Given the description of an element on the screen output the (x, y) to click on. 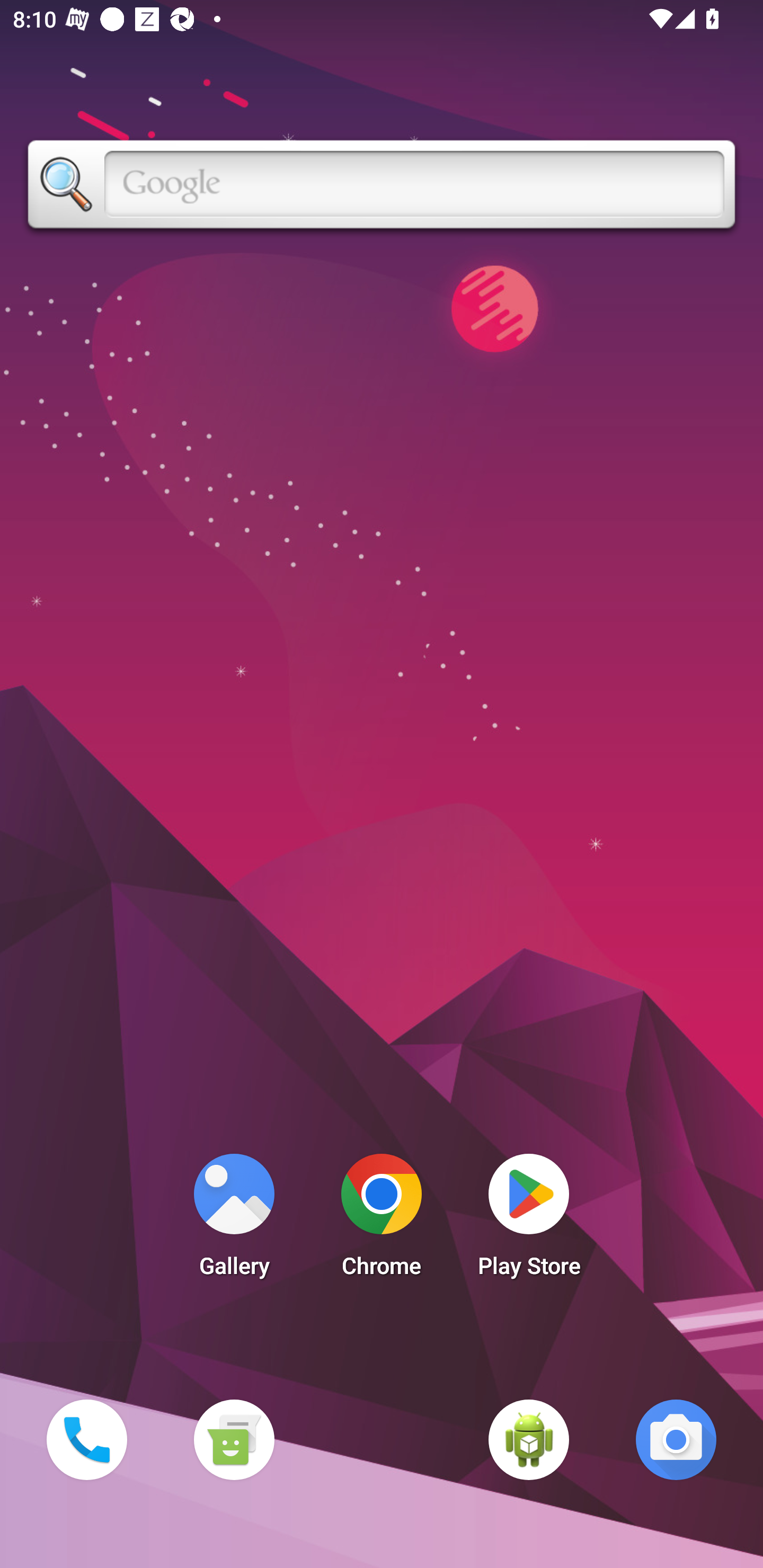
Gallery (233, 1220)
Chrome (381, 1220)
Play Store (528, 1220)
Phone (86, 1439)
Messaging (233, 1439)
WebView Browser Tester (528, 1439)
Camera (676, 1439)
